Given the description of an element on the screen output the (x, y) to click on. 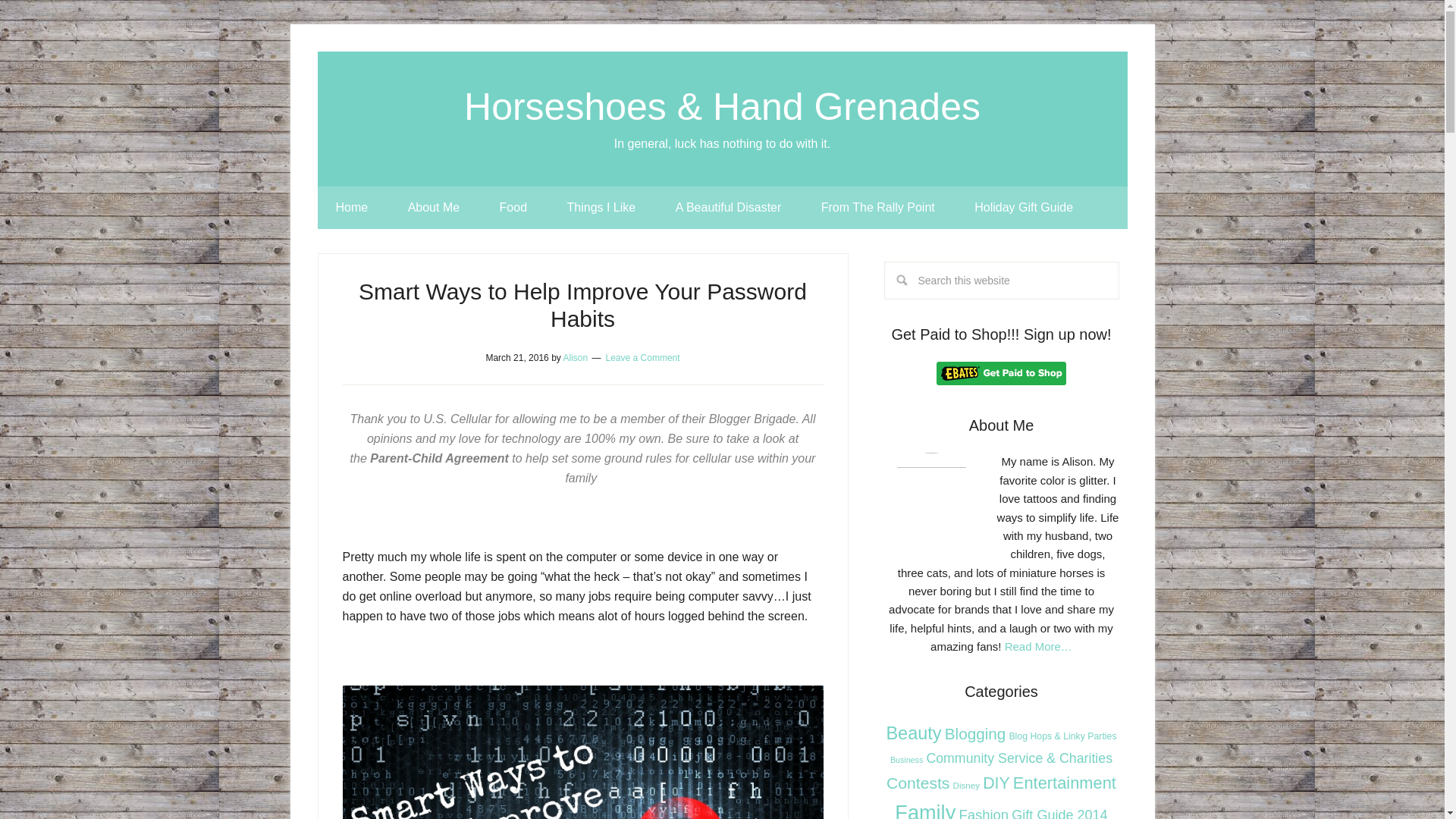
Blogging (975, 733)
Disney (966, 785)
Contests (917, 782)
Business (906, 759)
Alison (575, 357)
A Beautiful Disaster (728, 207)
From The Rally Point (878, 207)
Food (512, 207)
